Given the description of an element on the screen output the (x, y) to click on. 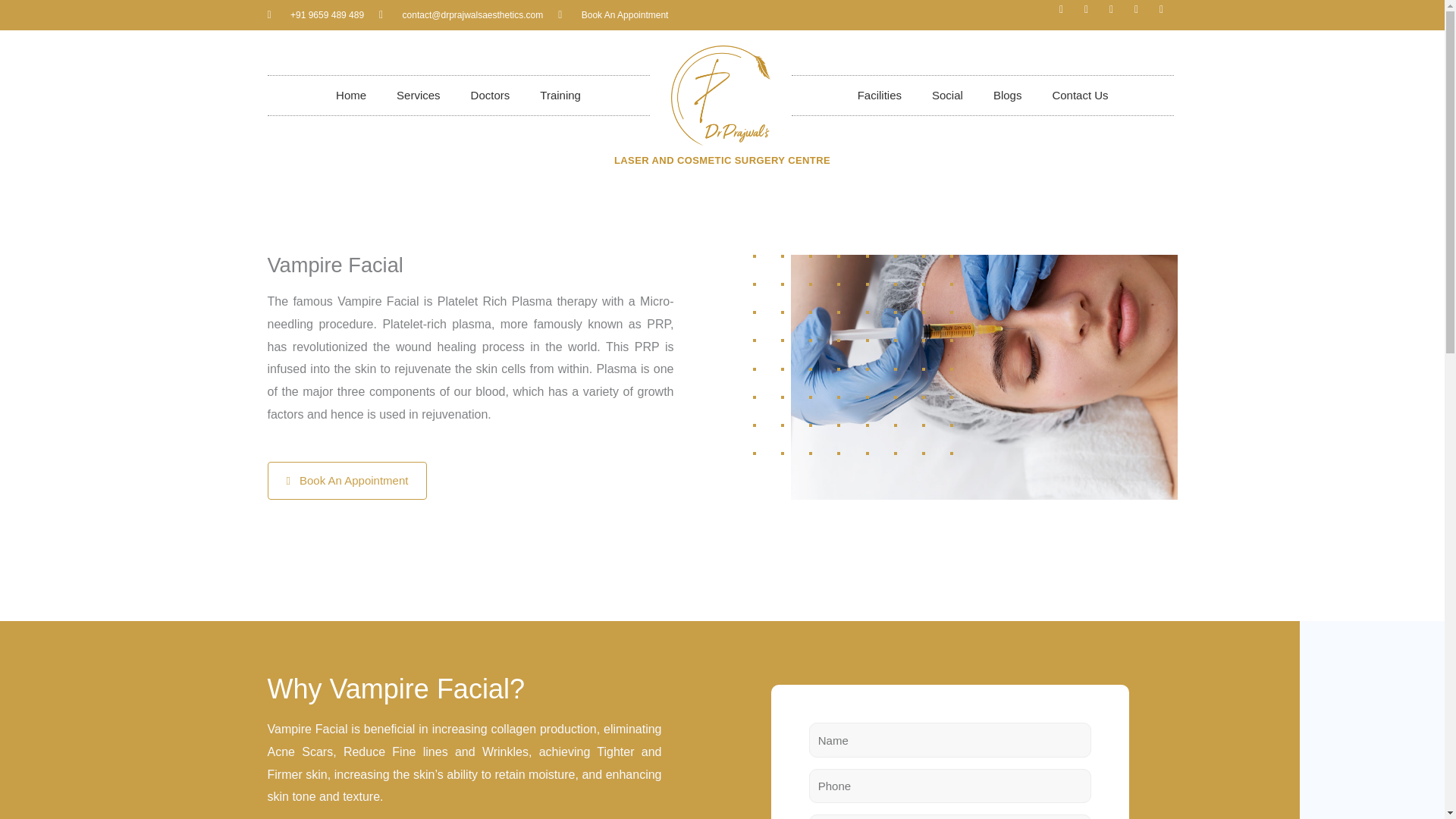
Book An Appointment (612, 14)
Facebook-f (1066, 14)
Instagram (1091, 14)
Youtube (1115, 14)
Whatsapp (1142, 14)
Linkedin (1166, 14)
Home (350, 95)
Services (418, 95)
